Given the description of an element on the screen output the (x, y) to click on. 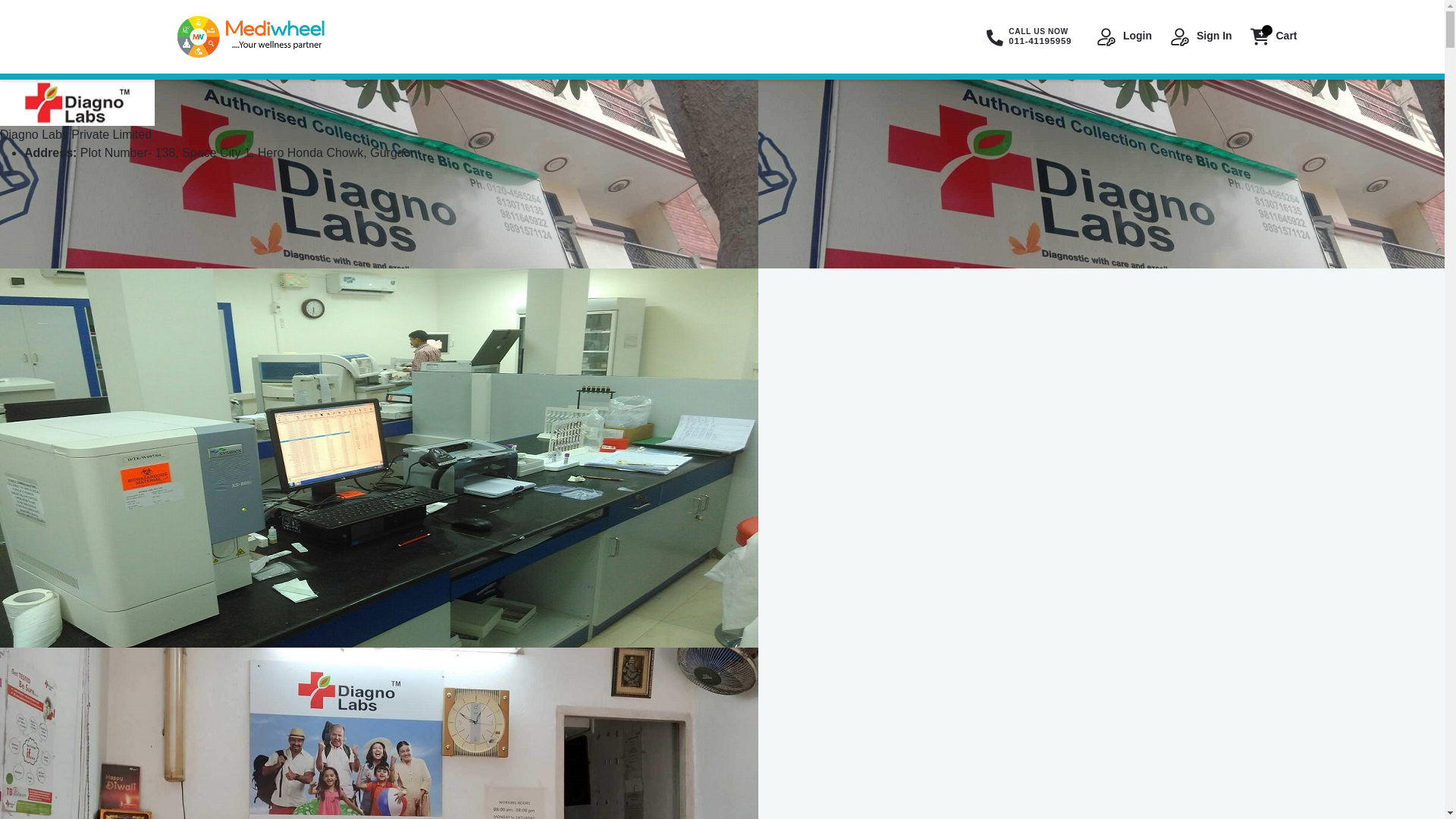
Sign In (1199, 37)
Login (1122, 37)
call us (1027, 36)
